Given the description of an element on the screen output the (x, y) to click on. 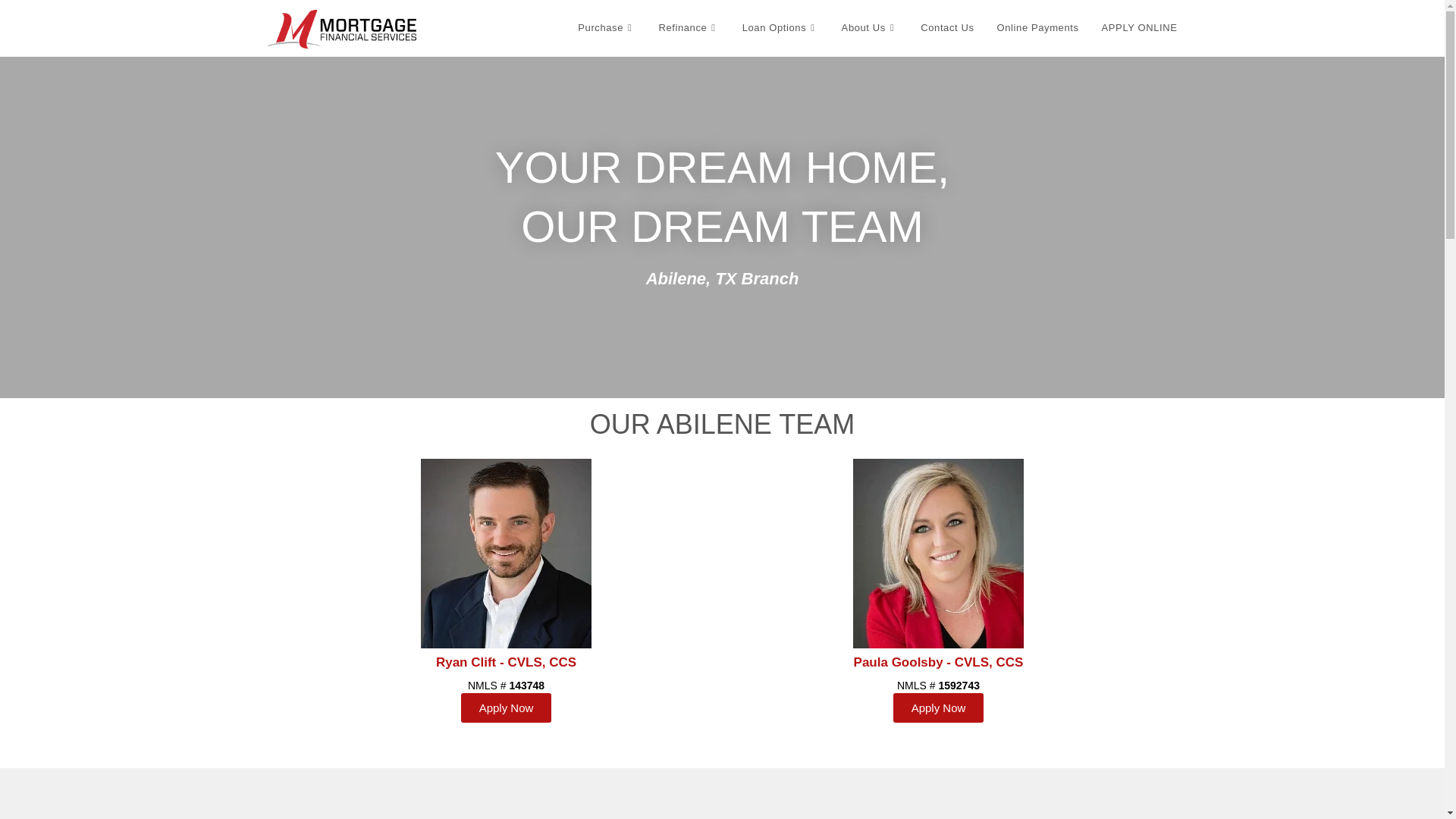
APPLY ONLINE (1139, 28)
Loan Options (779, 28)
About Us (869, 28)
Online Payments (1037, 28)
Contact Us (946, 28)
Purchase (606, 28)
Refinance (688, 28)
